Given the description of an element on the screen output the (x, y) to click on. 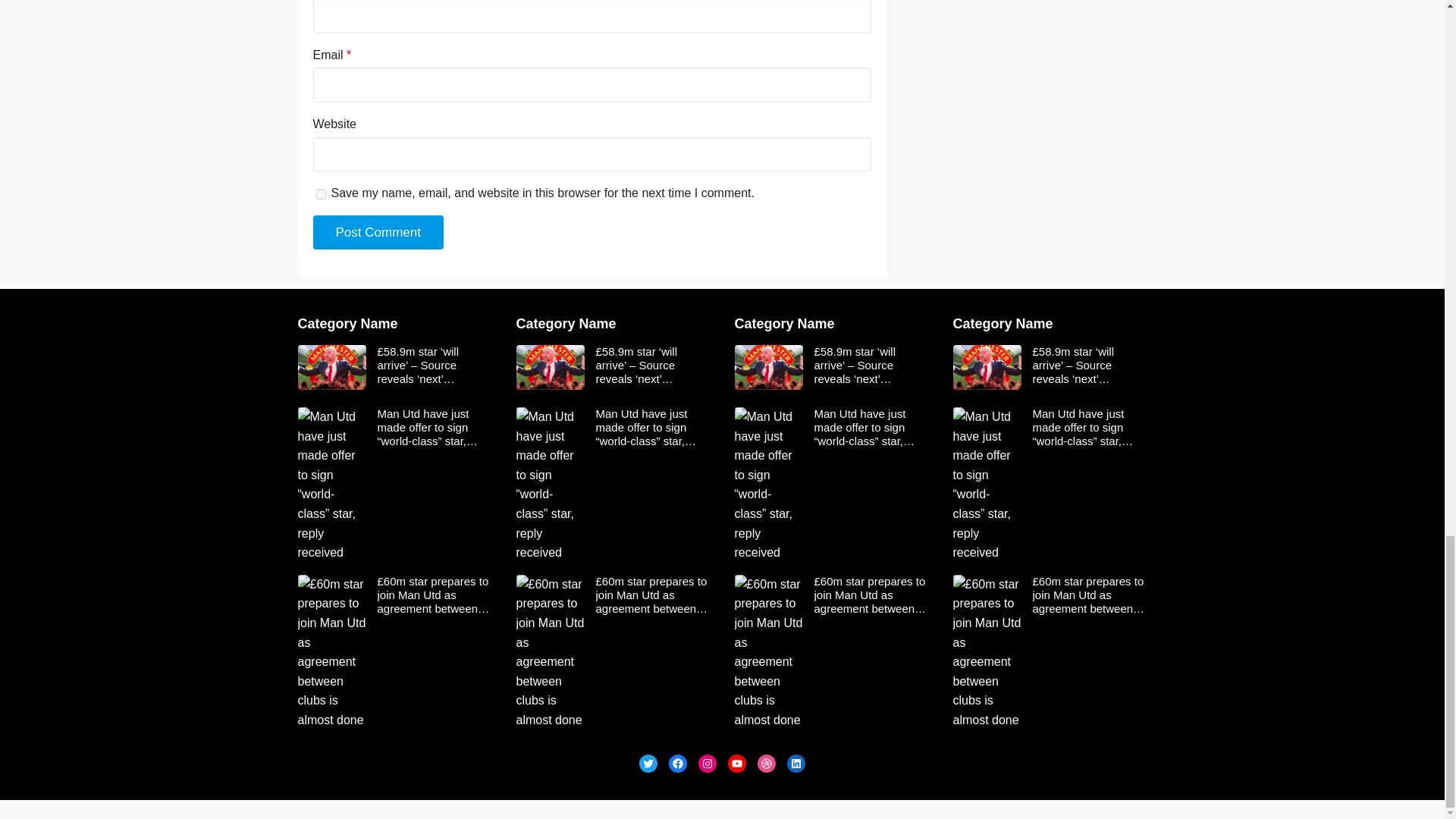
Category Name (347, 323)
Category Name (565, 323)
Post Comment (377, 232)
Instagram (707, 763)
Category Name (1002, 323)
Category Name (783, 323)
Facebook (677, 763)
Twitter (648, 763)
Post Comment (377, 232)
Dribbble (766, 763)
YouTube (736, 763)
